Given the description of an element on the screen output the (x, y) to click on. 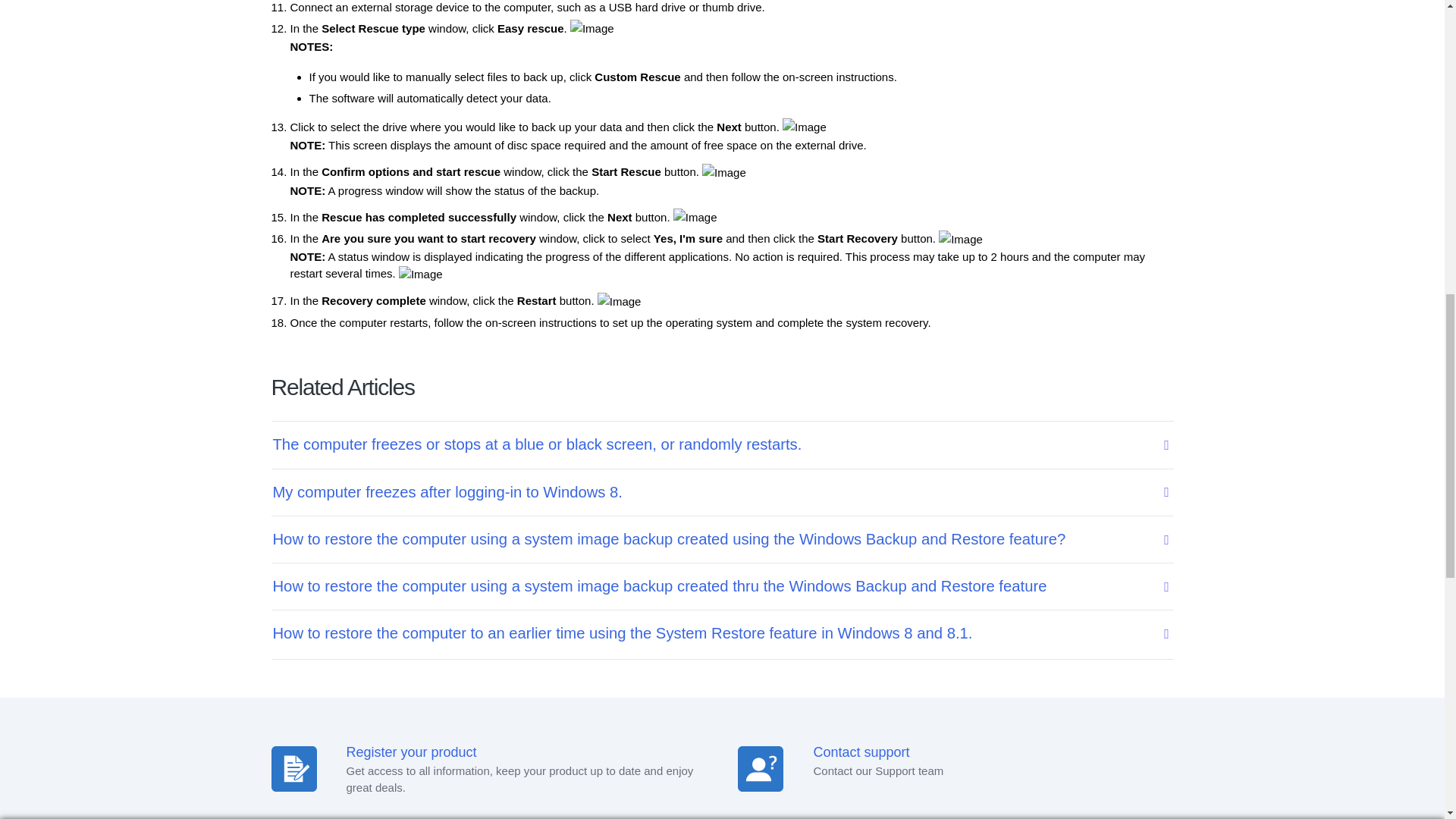
Contact Us (710, 18)
